Given the description of an element on the screen output the (x, y) to click on. 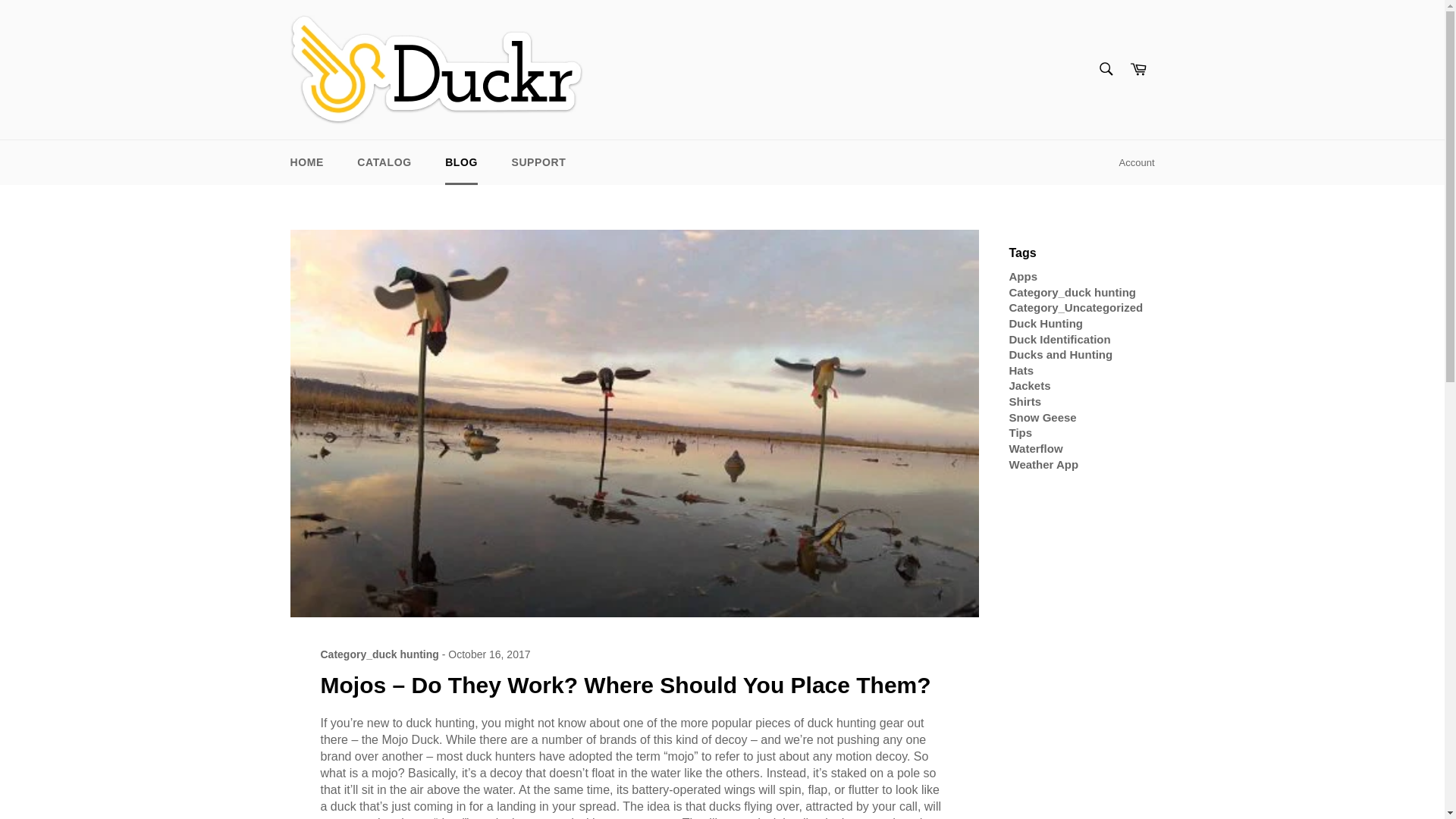
Cart (1138, 69)
Duck Identification (1059, 338)
Show articles tagged Waterflow (1035, 448)
Shirts (1025, 400)
Account (1136, 162)
Show articles tagged Ducks and Hunting (1060, 354)
BLOG (461, 162)
Weather App (1043, 463)
Waterflow (1035, 448)
Tips (1020, 431)
